Given the description of an element on the screen output the (x, y) to click on. 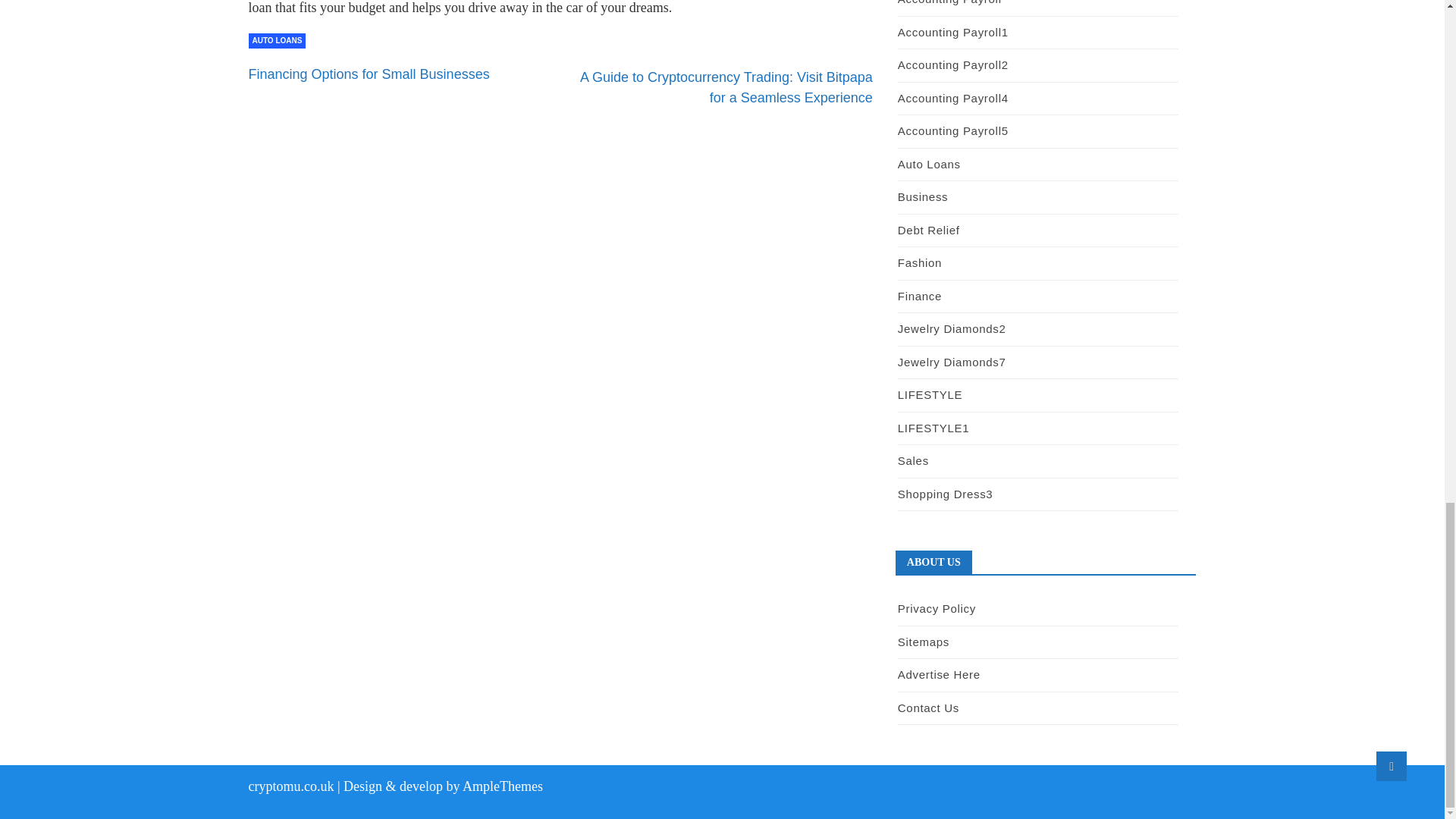
Financing Options for Small Businesses (368, 73)
AUTO LOANS (276, 40)
